Given the description of an element on the screen output the (x, y) to click on. 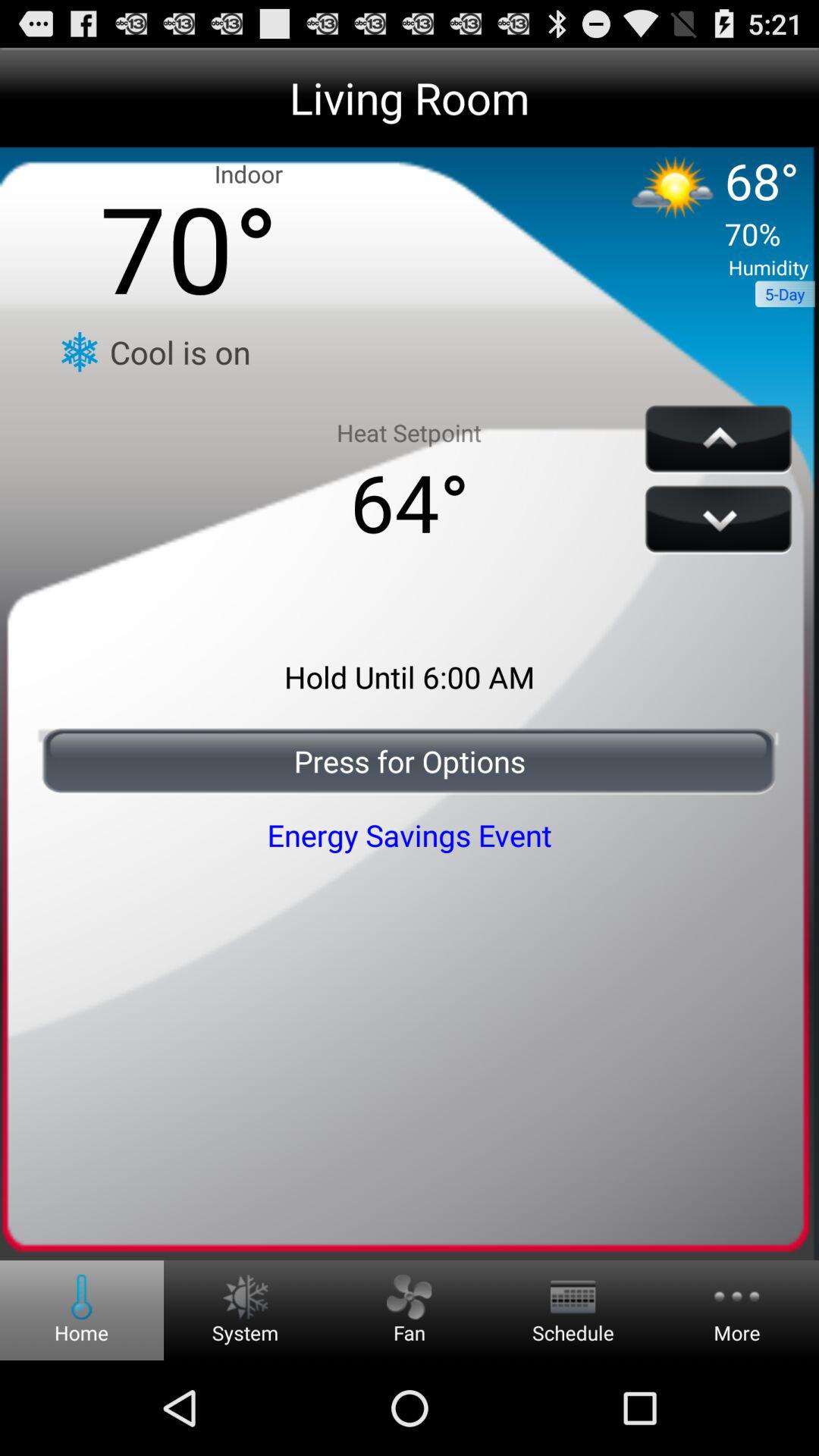
click on the icon before the text cool is on (79, 351)
select the sun icon (674, 197)
select the fan button (408, 1297)
